Given the description of an element on the screen output the (x, y) to click on. 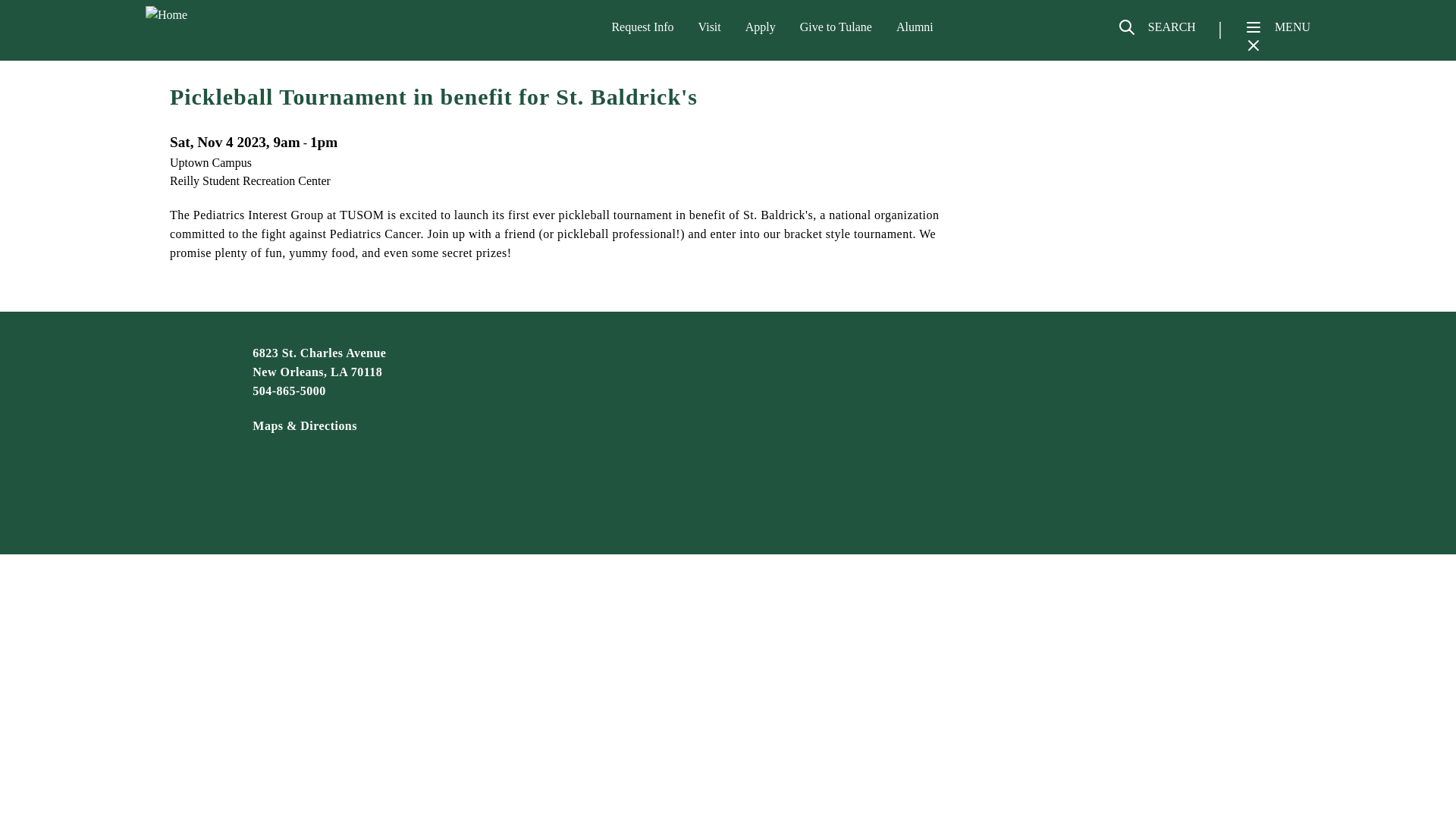
Alumni (914, 26)
SEARCH (1156, 33)
Home (223, 14)
Visit (709, 26)
Give to Tulane (835, 26)
Apply (760, 26)
Request Info (641, 26)
